Given the description of an element on the screen output the (x, y) to click on. 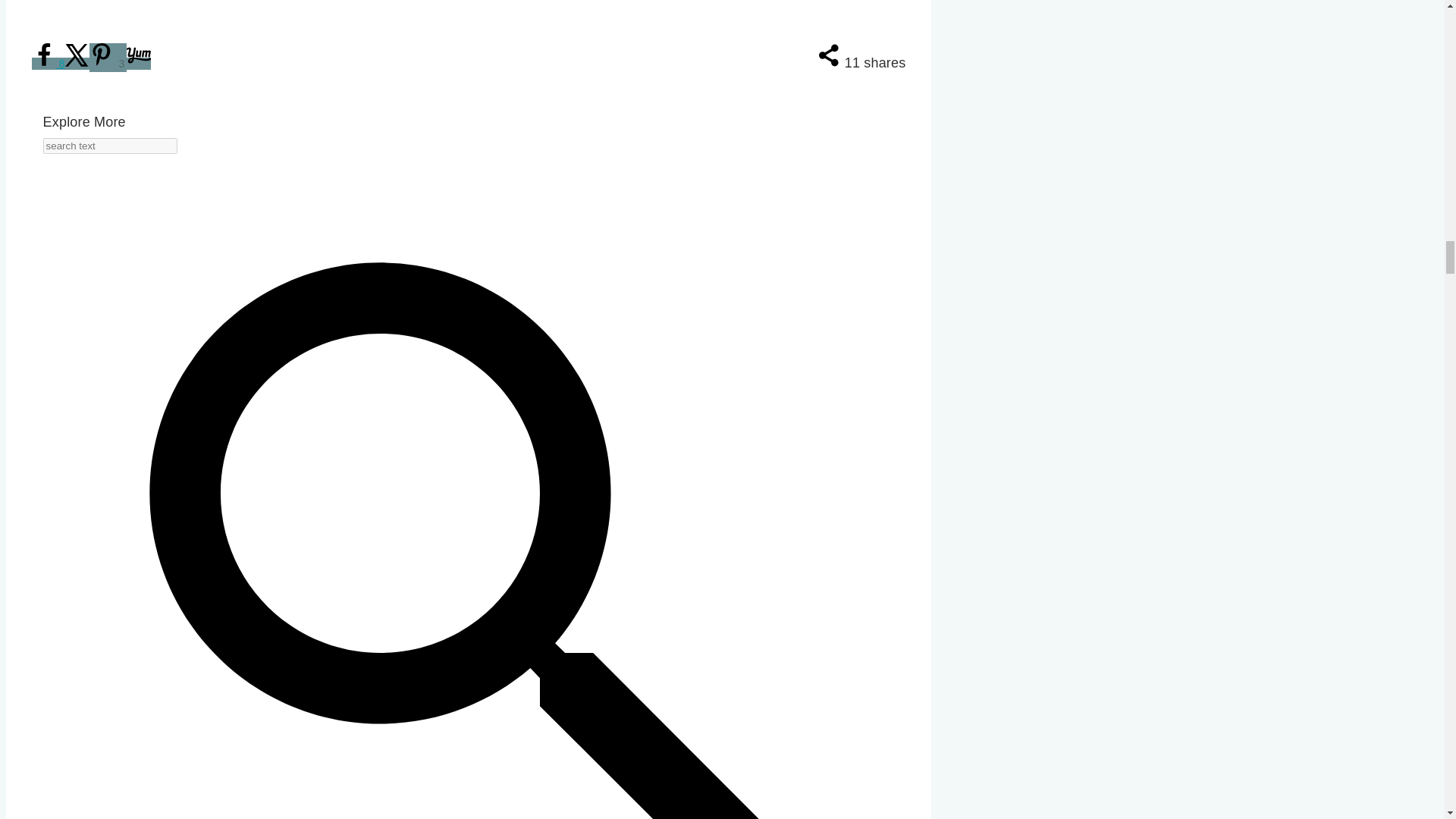
8 (48, 63)
Share on X (76, 63)
Share on Facebook (48, 63)
3 (108, 57)
Save to Pinterest (108, 57)
Share on Yummly (138, 63)
